Given the description of an element on the screen output the (x, y) to click on. 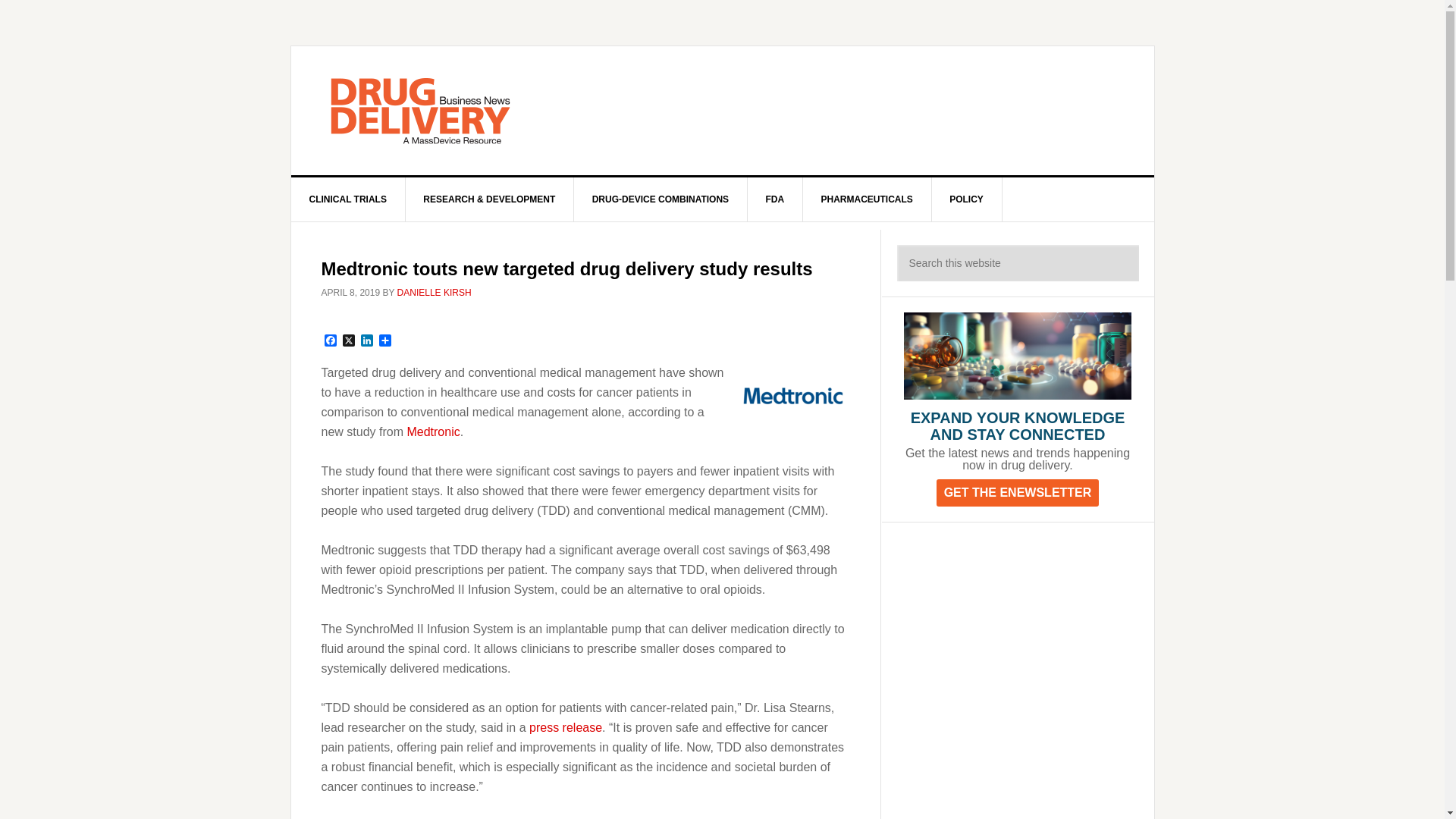
PHARMACEUTICALS (866, 199)
GET THE ENEWSLETTER (1017, 492)
DRUG-DEVICE COMBINATIONS (660, 199)
LinkedIn (366, 341)
FDA (774, 199)
X (348, 341)
press release (565, 726)
POLICY (967, 199)
CLINICAL TRIALS (348, 199)
Medtronic (433, 431)
X (348, 341)
DRUG DELIVERY BUSINESS (419, 110)
LinkedIn (366, 341)
Facebook (330, 341)
